Given the description of an element on the screen output the (x, y) to click on. 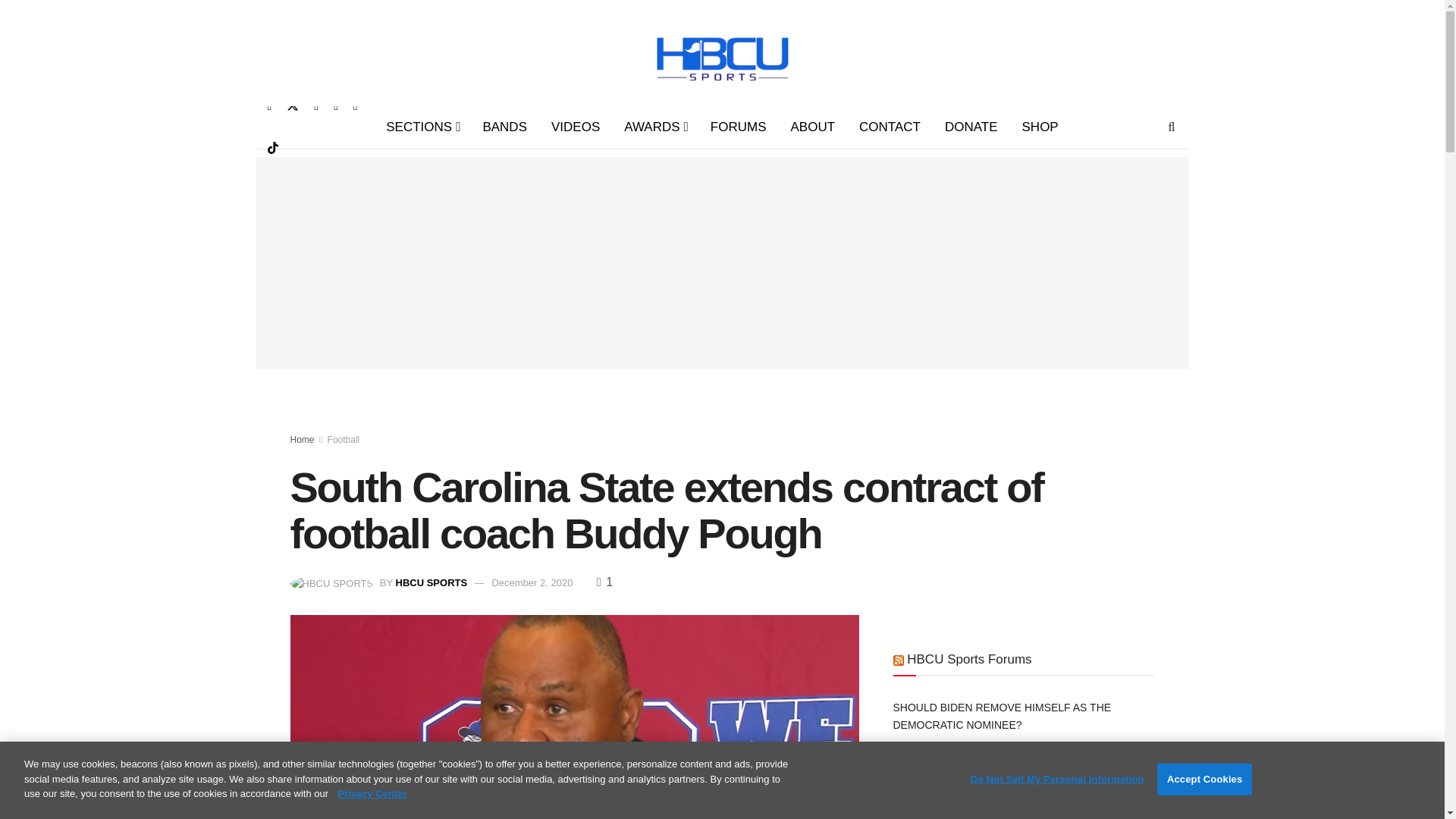
FORUMS (738, 127)
BANDS (504, 127)
ABOUT (812, 127)
AWARDS (654, 127)
SHOP (1040, 127)
DONATE (971, 127)
VIDEOS (574, 127)
CONTACT (890, 127)
SECTIONS (422, 127)
